Given the description of an element on the screen output the (x, y) to click on. 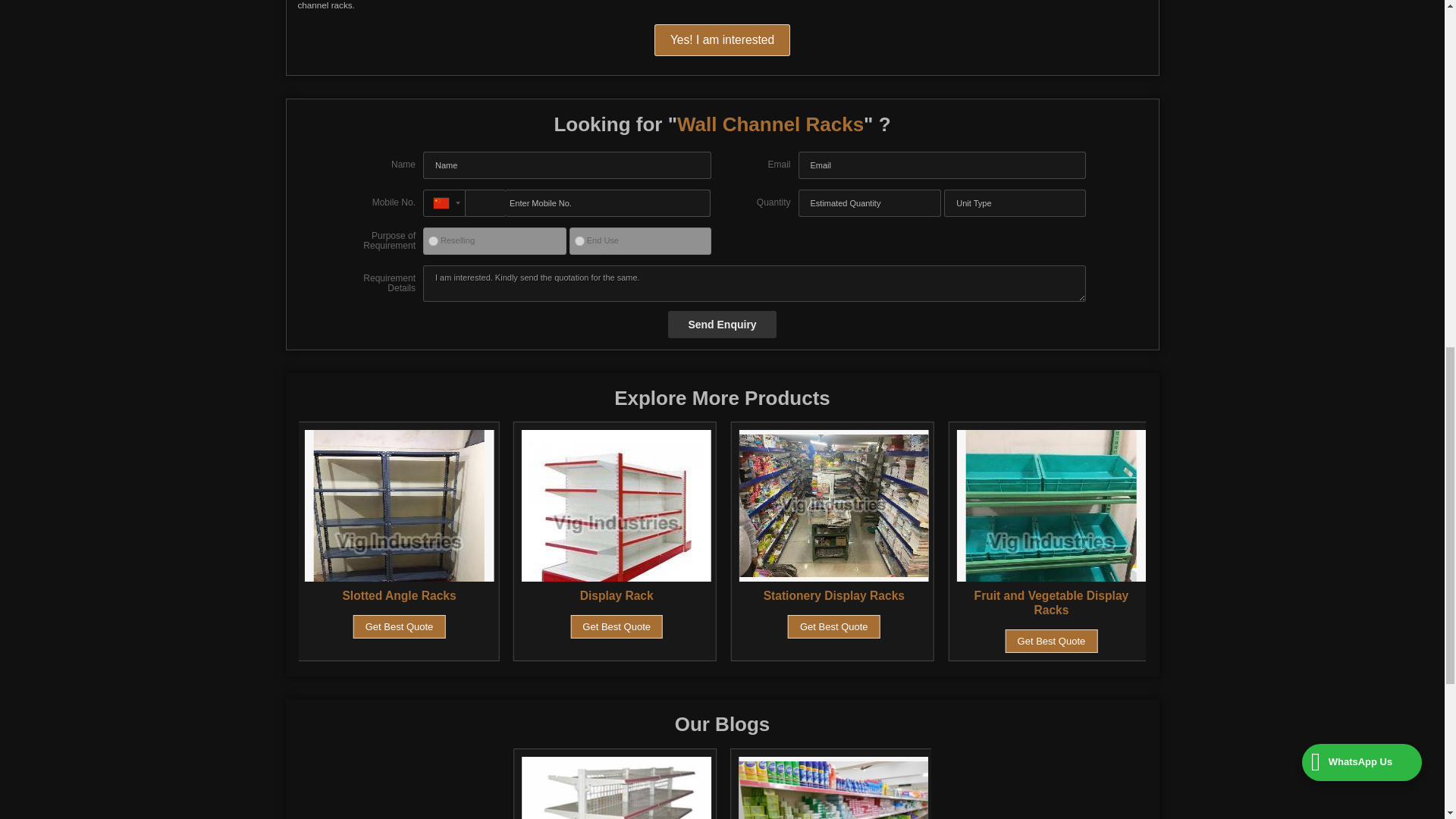
Send Enquiry (722, 324)
